Given the description of an element on the screen output the (x, y) to click on. 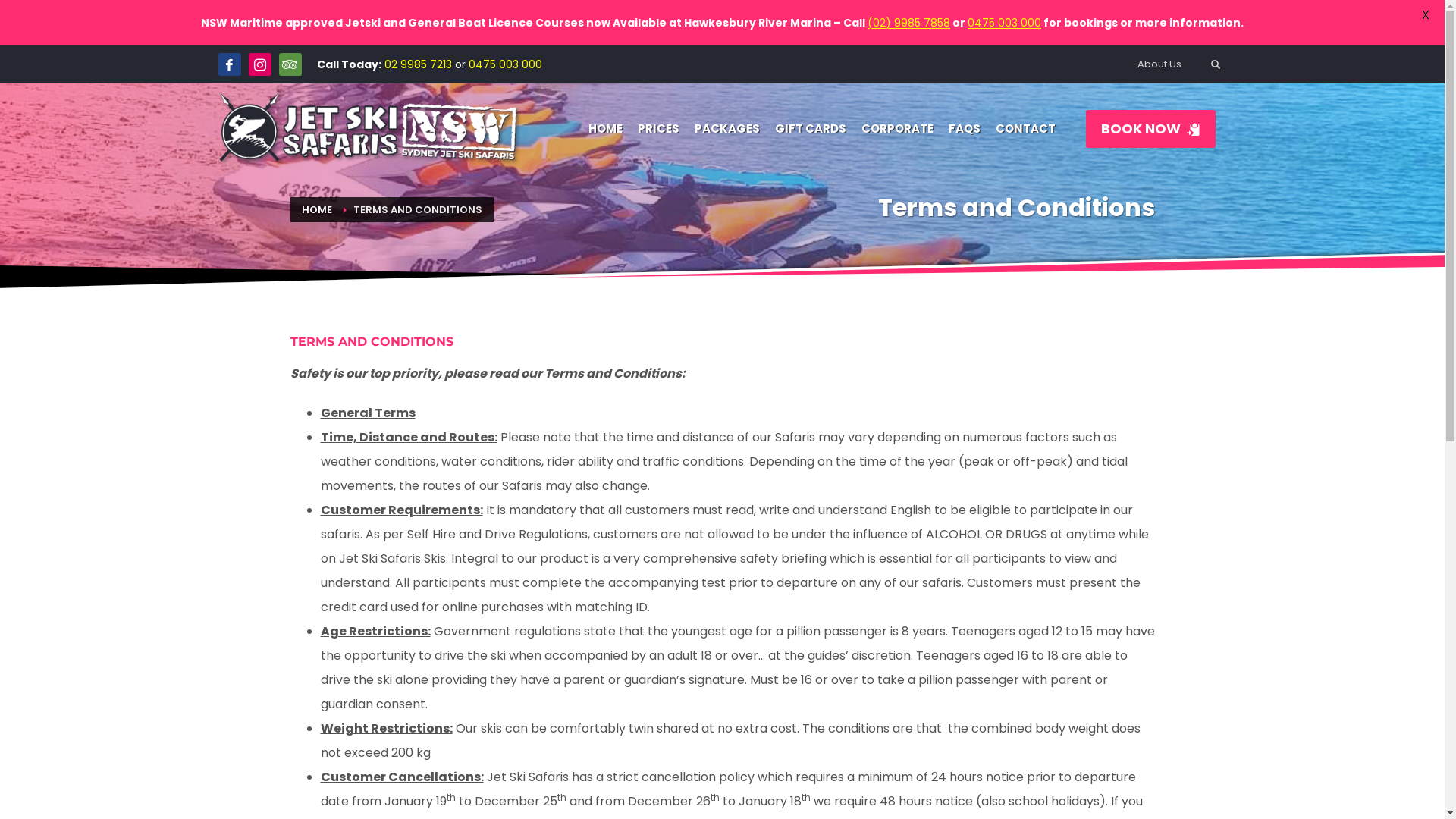
About Us Element type: text (1159, 64)
Tripadvisor Element type: hover (290, 64)
CONTACT Element type: text (1024, 128)
Instagram Element type: hover (259, 64)
HOME Element type: text (316, 209)
HOME Element type: text (605, 128)
FAQS Element type: text (963, 128)
0475 003 000 Element type: text (1004, 22)
CORPORATE Element type: text (897, 128)
0475 003 000 Element type: text (505, 64)
02 9985 7213 Element type: text (417, 64)
PRICES Element type: text (657, 128)
(02) 9985 7858 Element type: text (908, 22)
Facebook Element type: hover (229, 64)
GIFT CARDS Element type: text (810, 128)
PACKAGES Element type: text (727, 128)
BOOK NOW Element type: text (1150, 128)
